Given the description of an element on the screen output the (x, y) to click on. 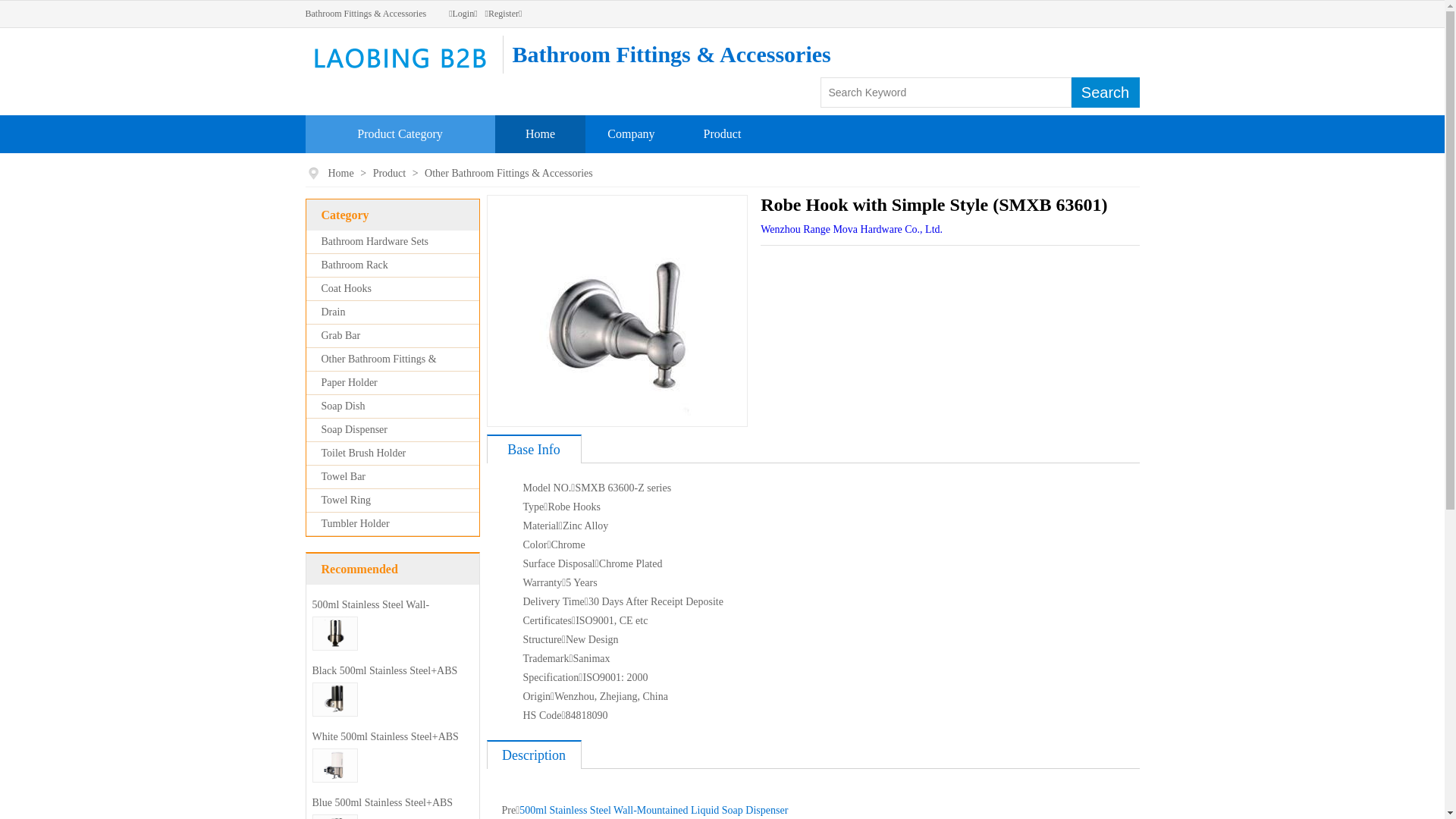
Soap Dispenser Element type: text (354, 429)
Other Bathroom Fittings & Accessories Element type: text (371, 370)
Other Bathroom Fittings & Accessories Element type: text (508, 172)
Toilet Brush Holder Element type: text (363, 452)
Bathroom Fittings & Accessories Element type: text (365, 13)
Bathroom Hardware Sets Element type: text (375, 241)
Towel Bar Element type: text (343, 476)
Product Element type: text (390, 172)
Product Category Element type: text (399, 133)
Soap Dish Element type: text (343, 405)
Company Element type: text (630, 133)
Paper Holder Element type: text (349, 382)
Product Element type: text (722, 133)
Home Element type: text (540, 133)
Tumbler Holder Element type: text (355, 523)
Grab Bar Element type: text (340, 335)
Home Element type: text (340, 172)
Bathroom Rack Element type: text (354, 264)
500ml Stainless Steel Wall-Mountained Liquid Soap Dispenser Element type: text (653, 809)
Wenzhou Range Mova Hardware Co., Ltd. Element type: text (851, 229)
Towel Ring Element type: text (346, 499)
500ml Stainless Steel Wall-Mountained Liquid Soap Dispenser Element type: text (387, 616)
Search Element type: text (1104, 92)
Coat Hooks Element type: text (346, 288)
Drain Element type: text (333, 311)
